Given the description of an element on the screen output the (x, y) to click on. 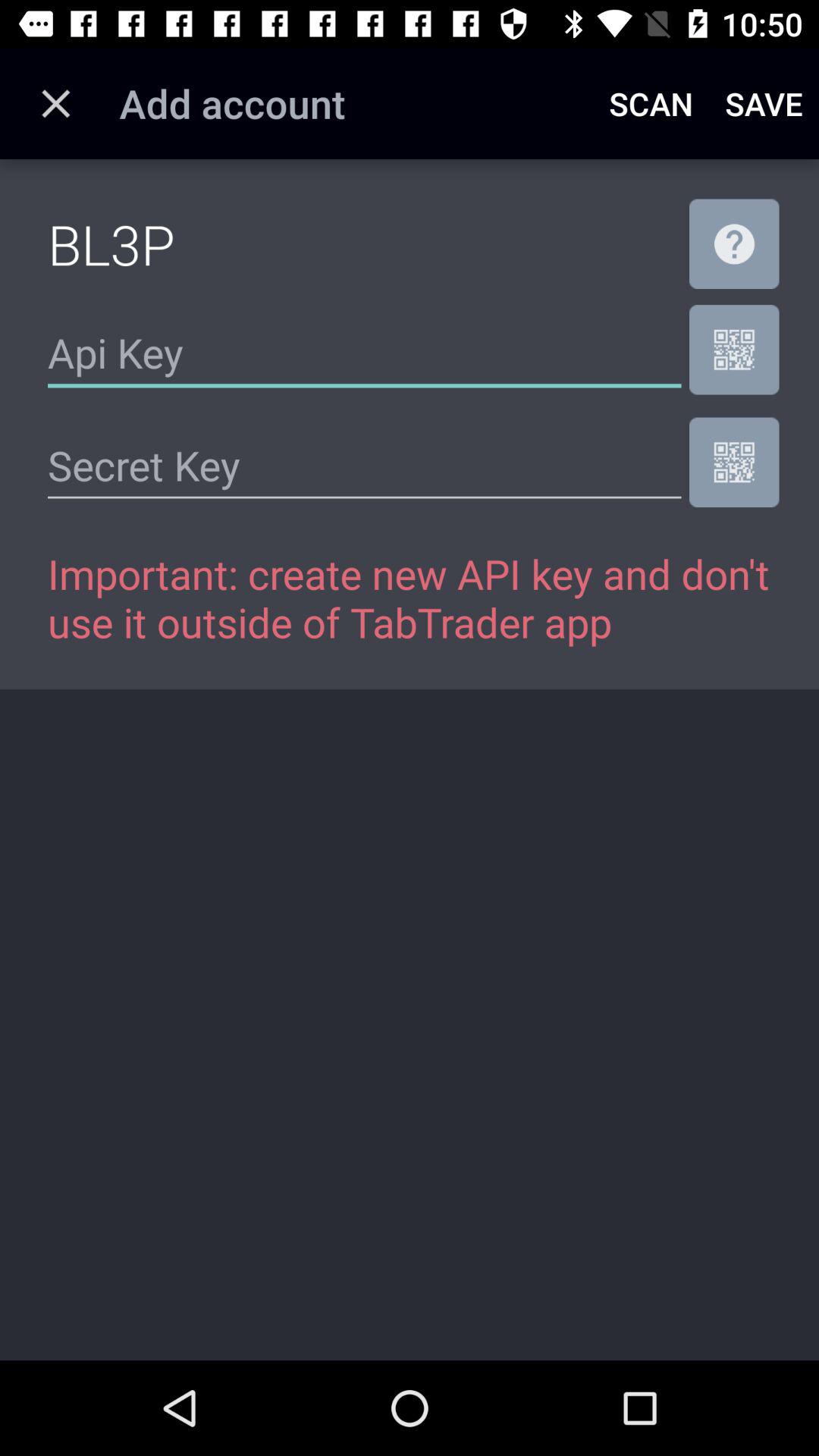
launch the item next to the scan icon (764, 103)
